Given the description of an element on the screen output the (x, y) to click on. 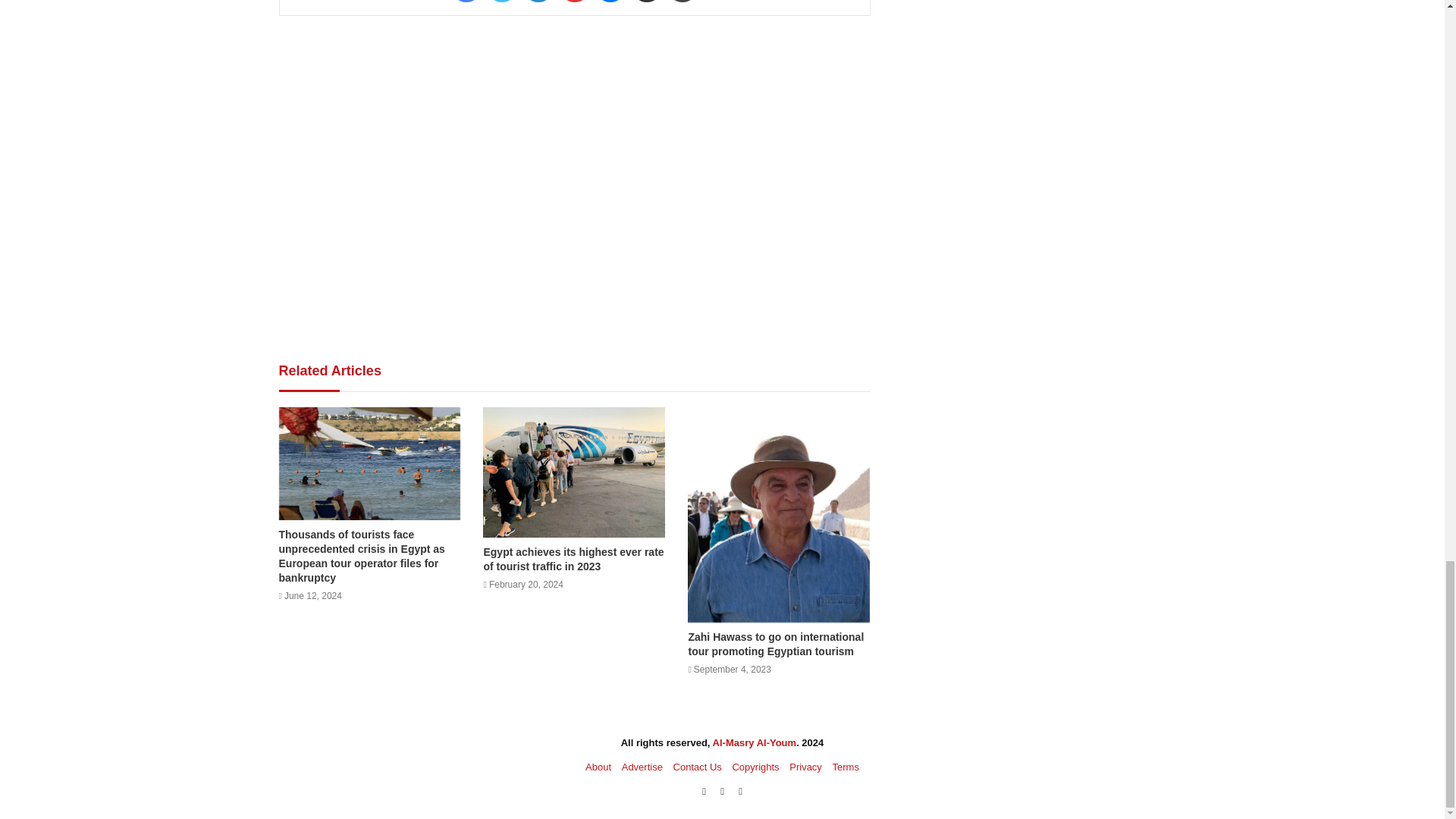
Facebook (466, 1)
Facebook (466, 1)
LinkedIn (537, 1)
Share via Email (646, 1)
Pinterest (574, 1)
Messenger (610, 1)
Messenger (610, 1)
LinkedIn (537, 1)
Twitter (501, 1)
Twitter (501, 1)
Pinterest (574, 1)
